Given the description of an element on the screen output the (x, y) to click on. 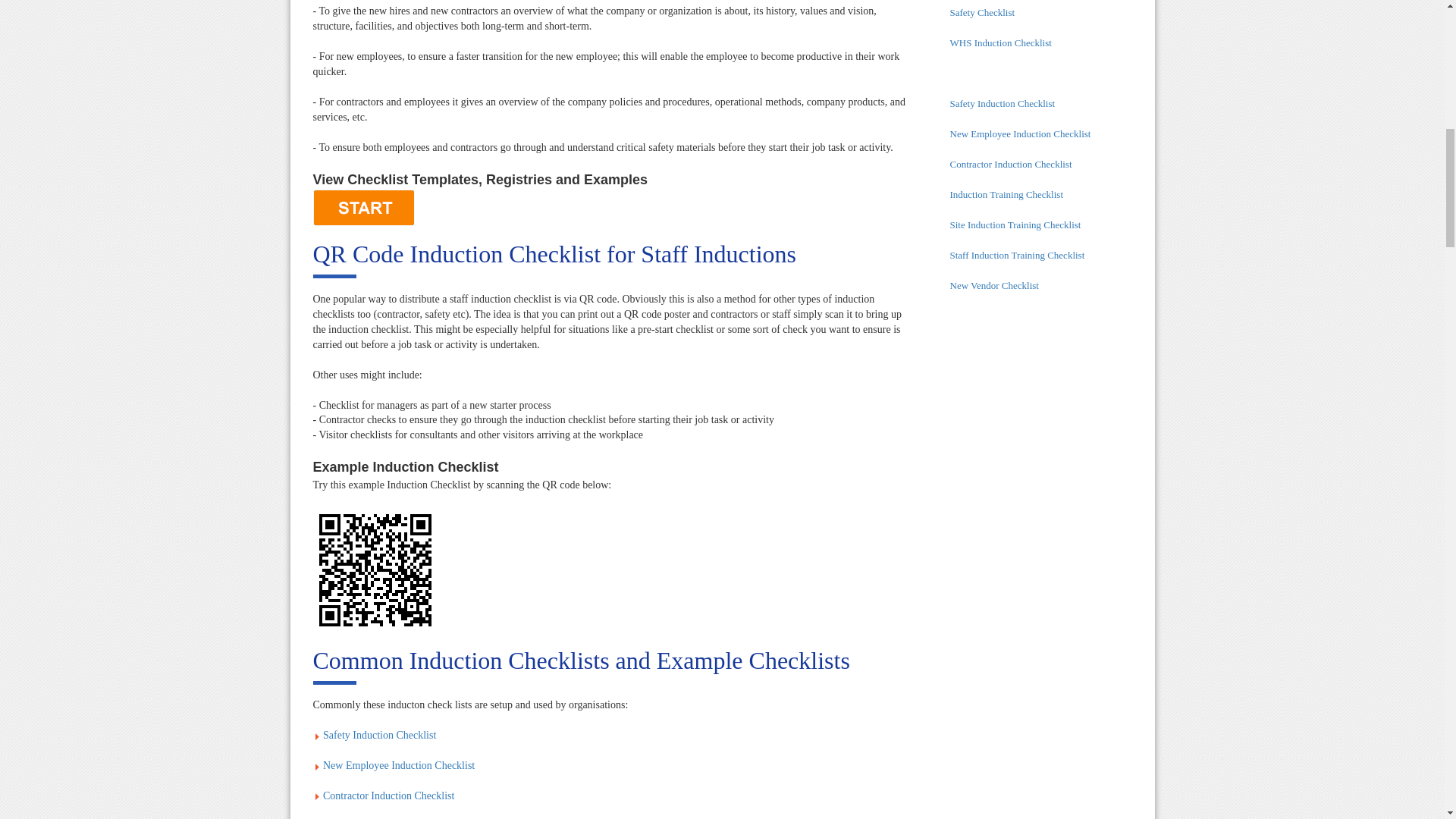
New Employee Induction Checklist (398, 765)
Safety Induction Checklist (379, 735)
Contractor Induction Checklist (388, 795)
